Given the description of an element on the screen output the (x, y) to click on. 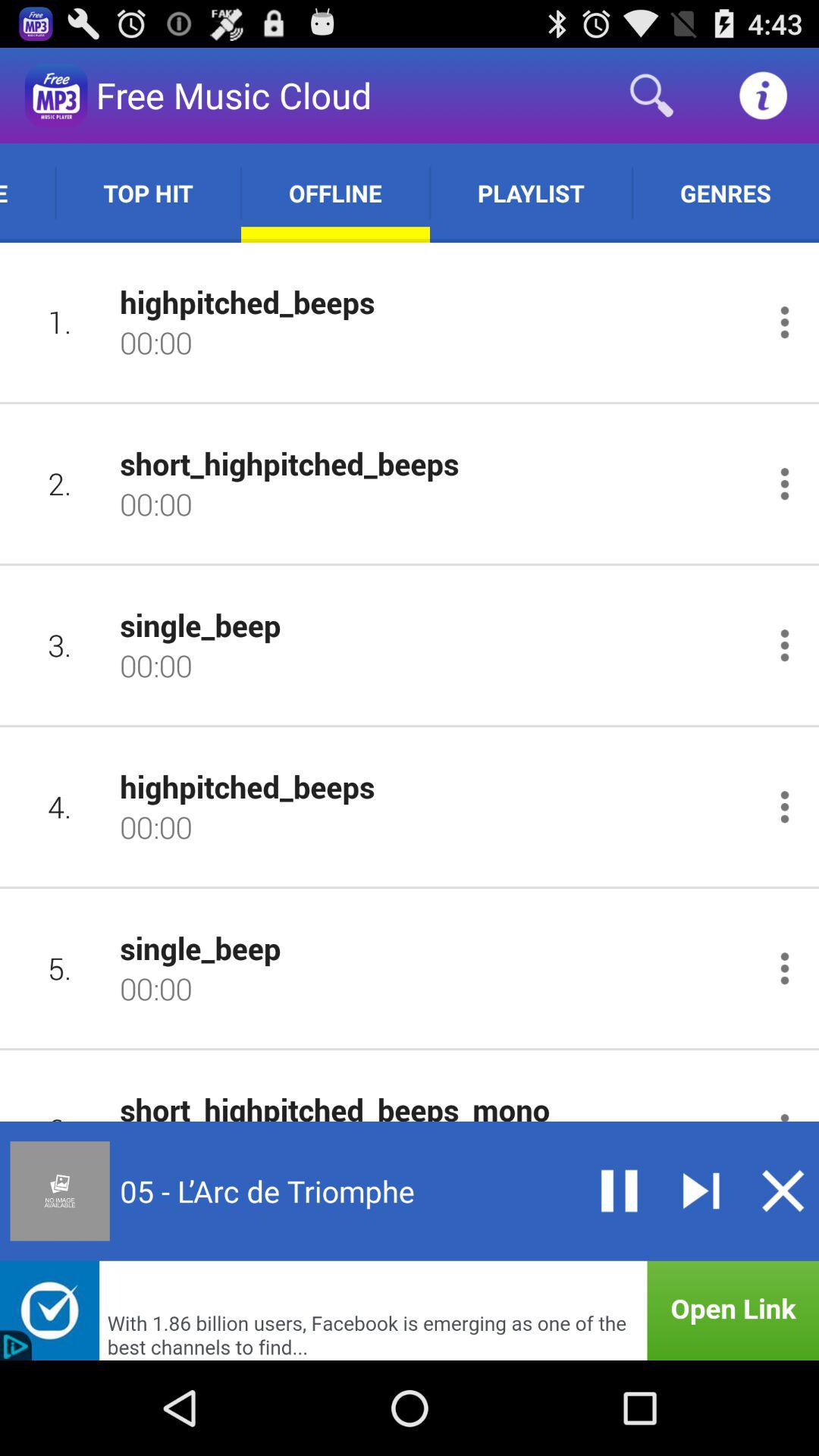
play song (701, 1190)
